Given the description of an element on the screen output the (x, y) to click on. 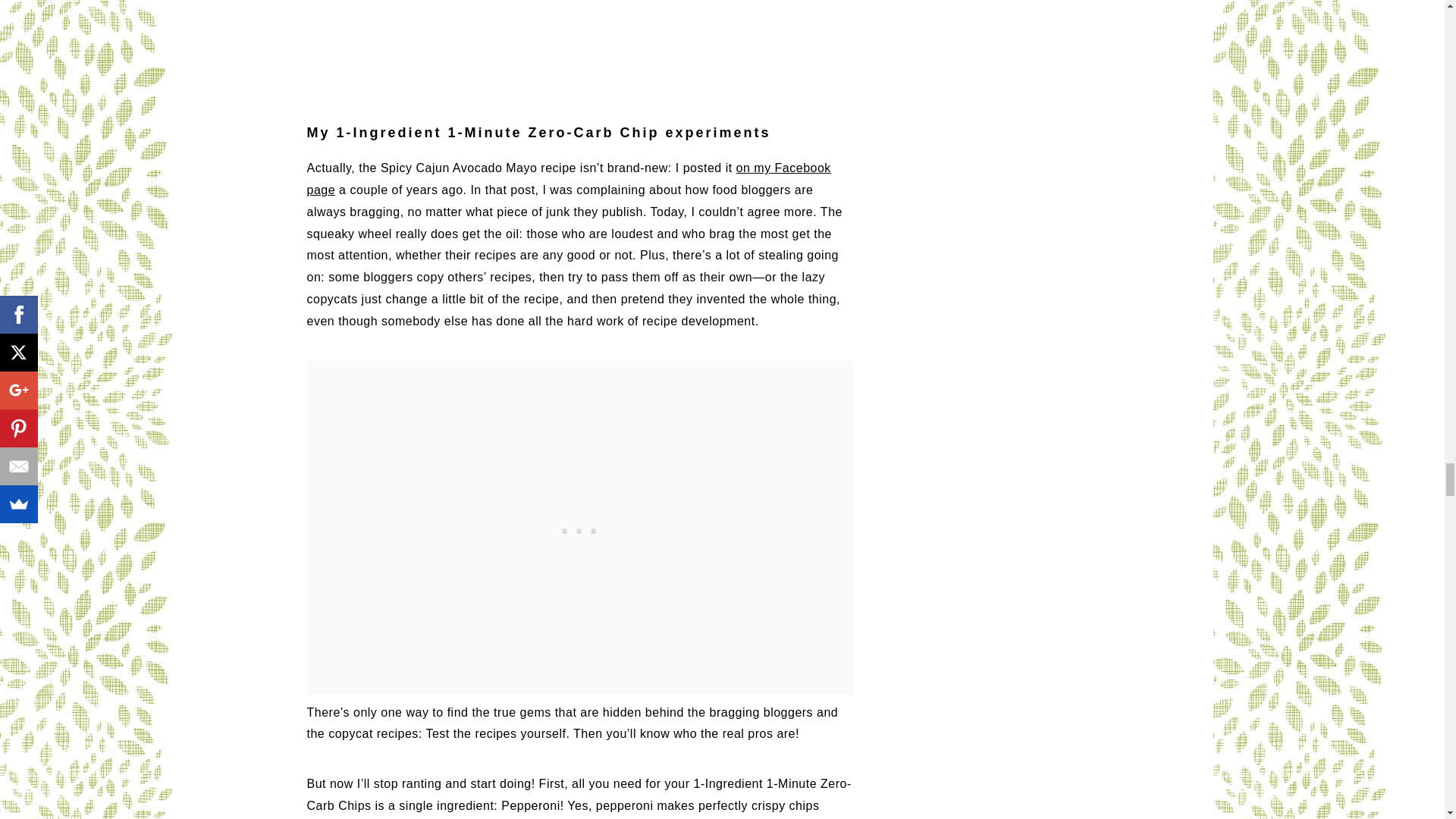
on my Facebook page (567, 178)
